Given the description of an element on the screen output the (x, y) to click on. 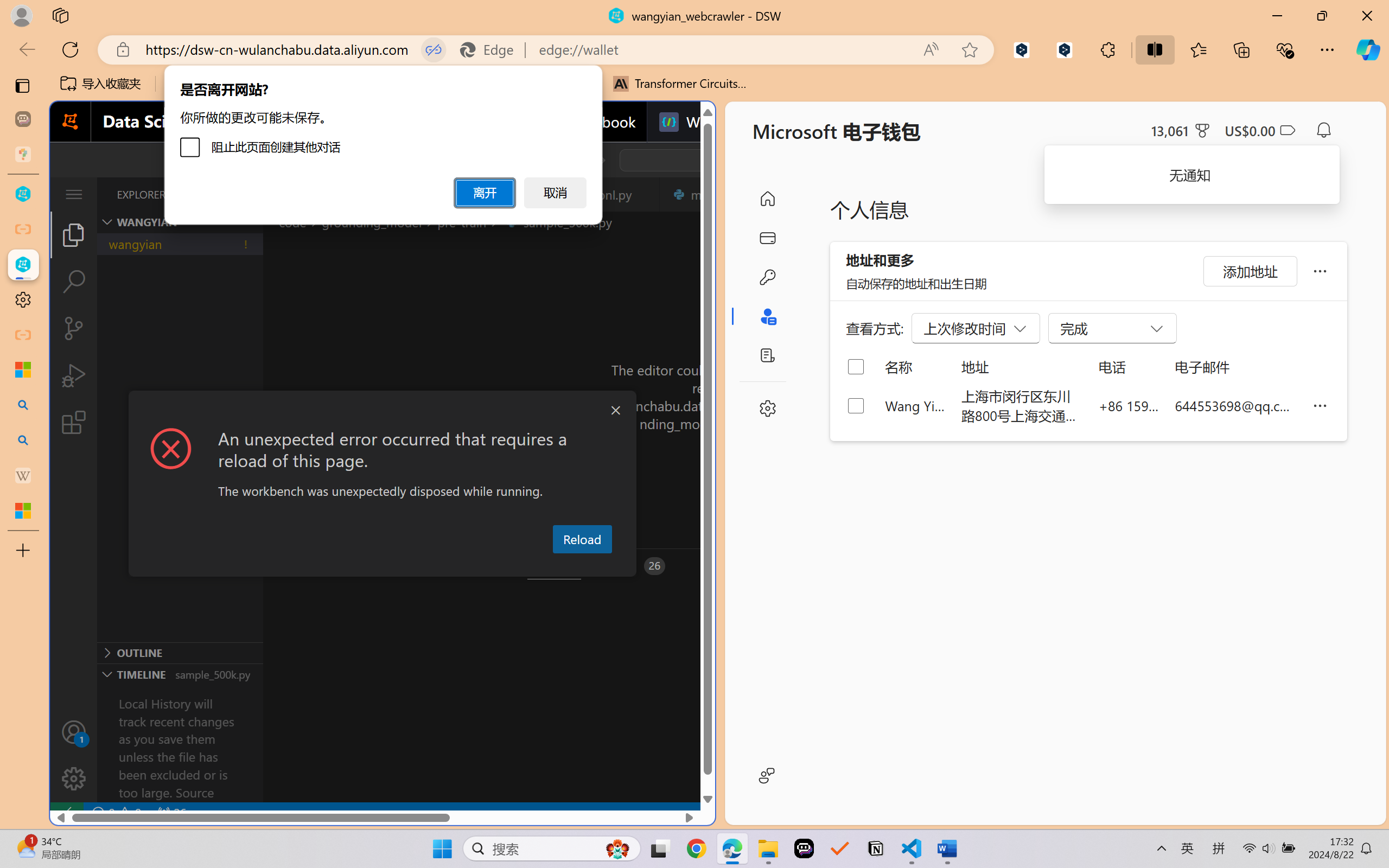
Terminal actions (1002, 565)
Microsoft Cashback - US$0.00 (1259, 129)
